Given the description of an element on the screen output the (x, y) to click on. 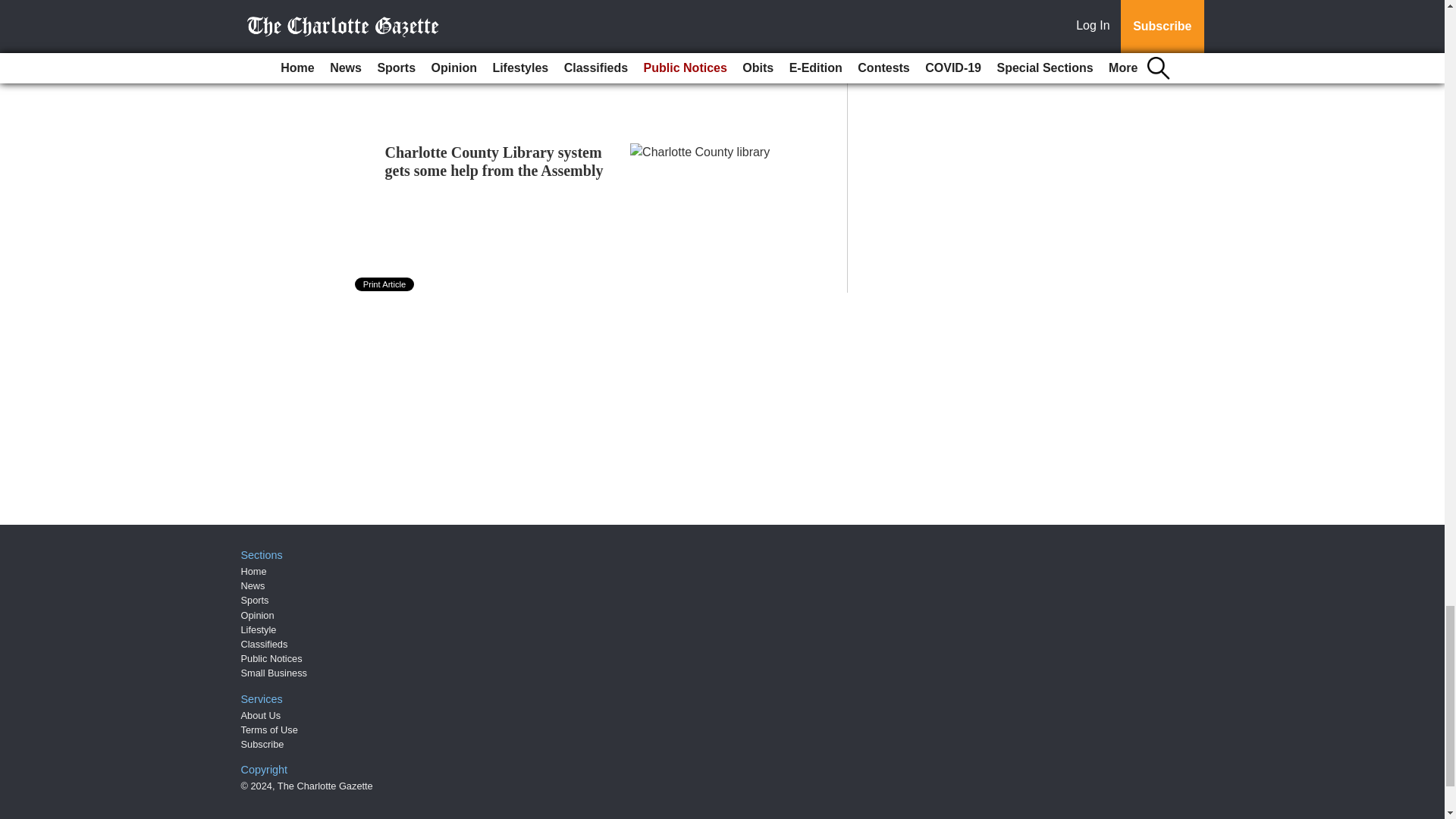
Print Article (384, 284)
